Given the description of an element on the screen output the (x, y) to click on. 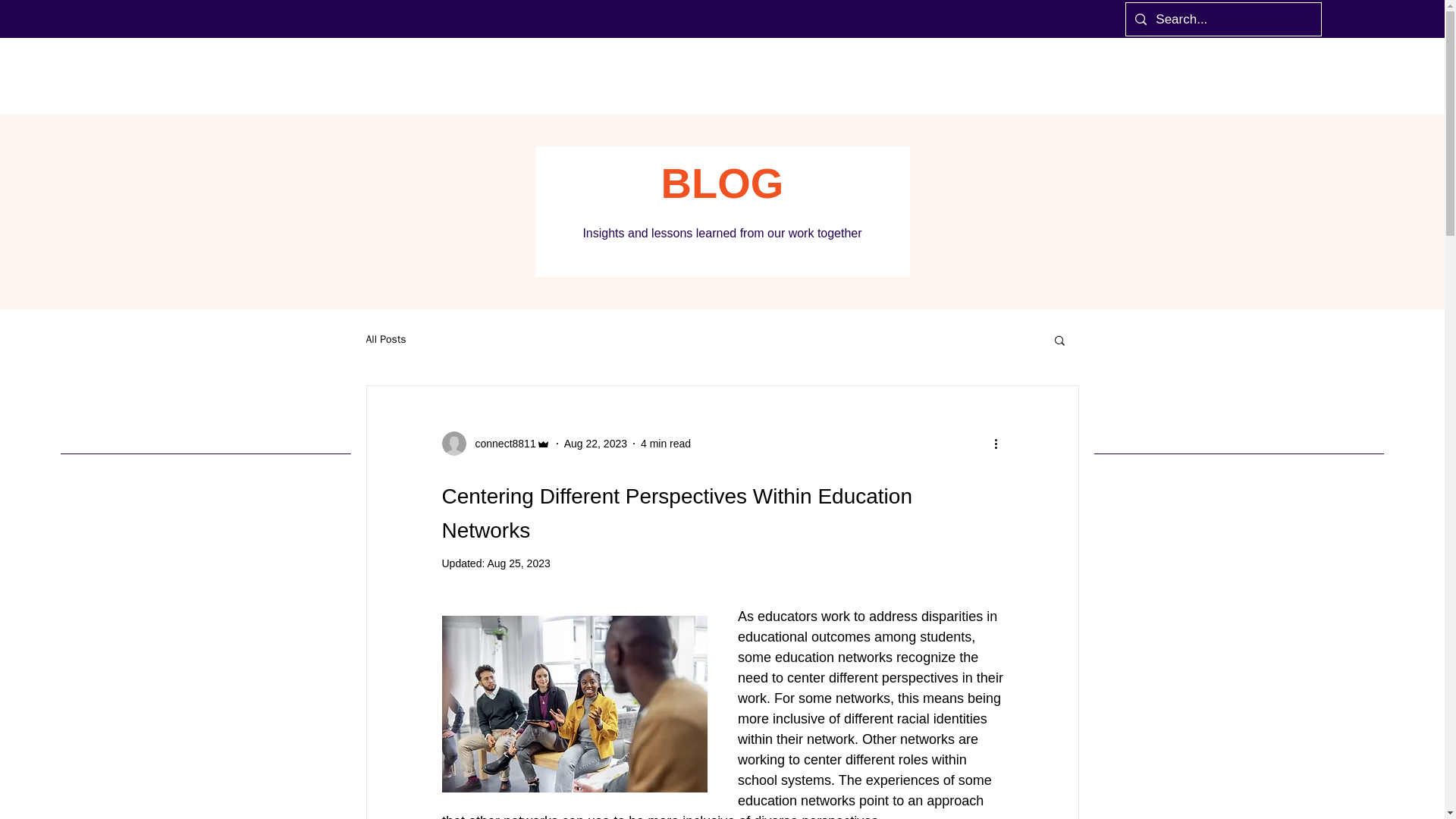
connect8811 (495, 443)
All Posts (385, 339)
Aug 22, 2023 (595, 442)
connect8811 (500, 442)
Aug 25, 2023 (518, 563)
4 min read (665, 442)
